Given the description of an element on the screen output the (x, y) to click on. 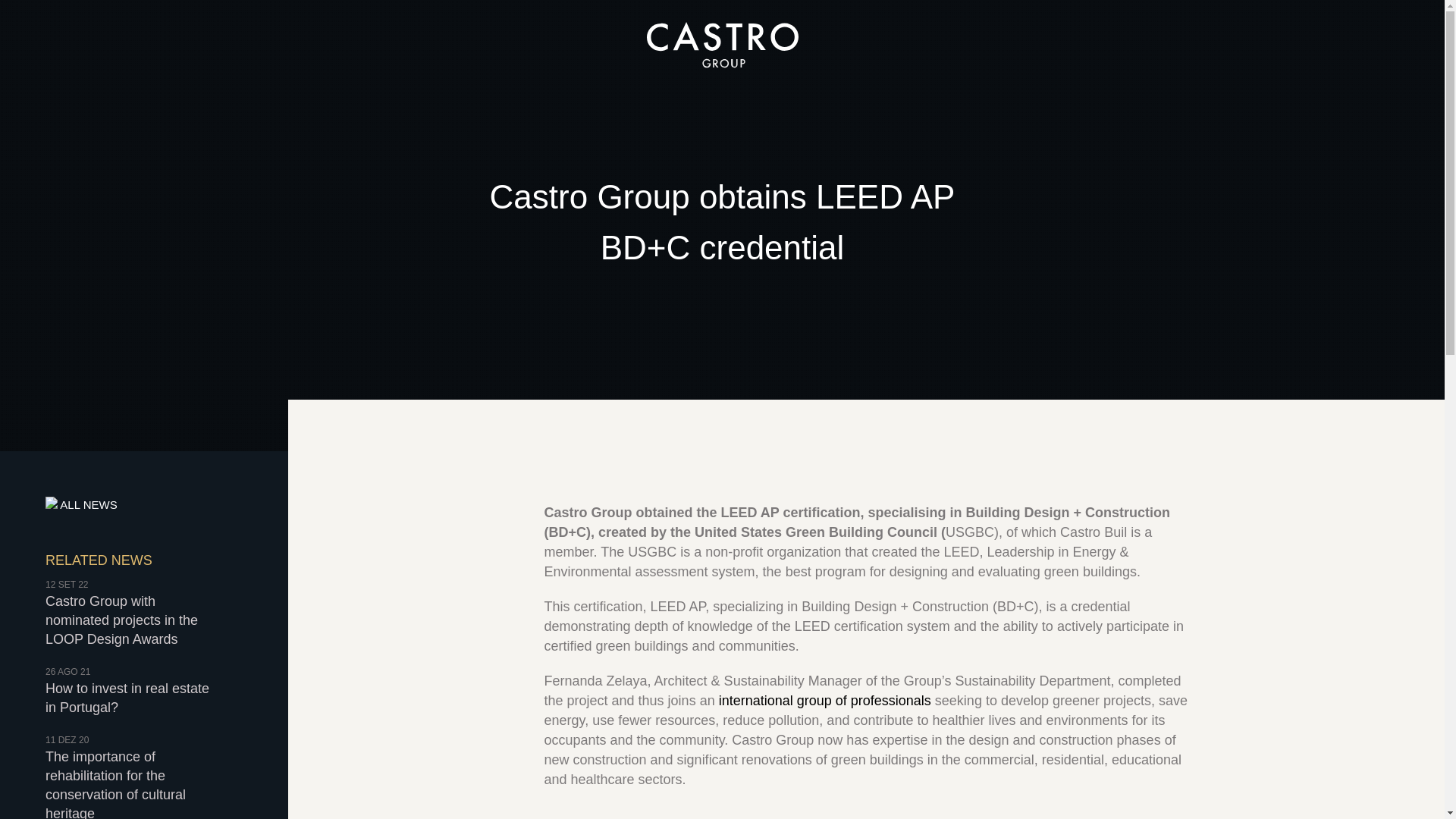
international group of professionals (825, 700)
ALL NEWS (133, 690)
